Given the description of an element on the screen output the (x, y) to click on. 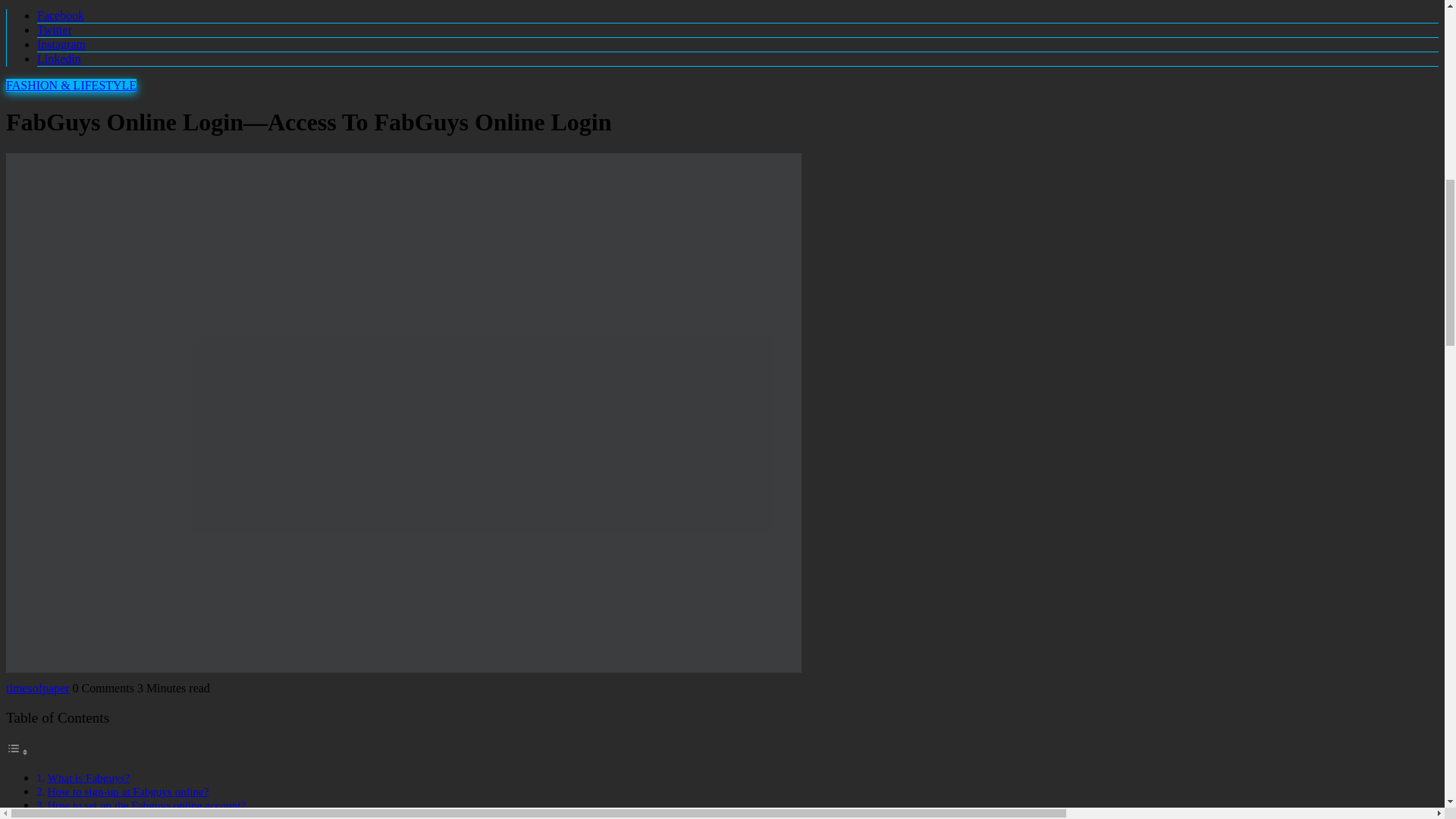
How to sign-up at Fabguys online? (127, 790)
How to set up the Fabguys online account? (146, 804)
What is the FabGuys Online Login Process? (148, 815)
How to sign-up at Fabguys online? (127, 790)
Facebook (60, 15)
Instagram (61, 43)
Twitter (54, 29)
How to set up the Fabguys online account? (146, 804)
What is Fabguys? (87, 777)
timesofpaper (37, 687)
What is Fabguys? (87, 777)
Linkedin (59, 58)
What is the FabGuys Online Login Process? (148, 815)
